Given the description of an element on the screen output the (x, y) to click on. 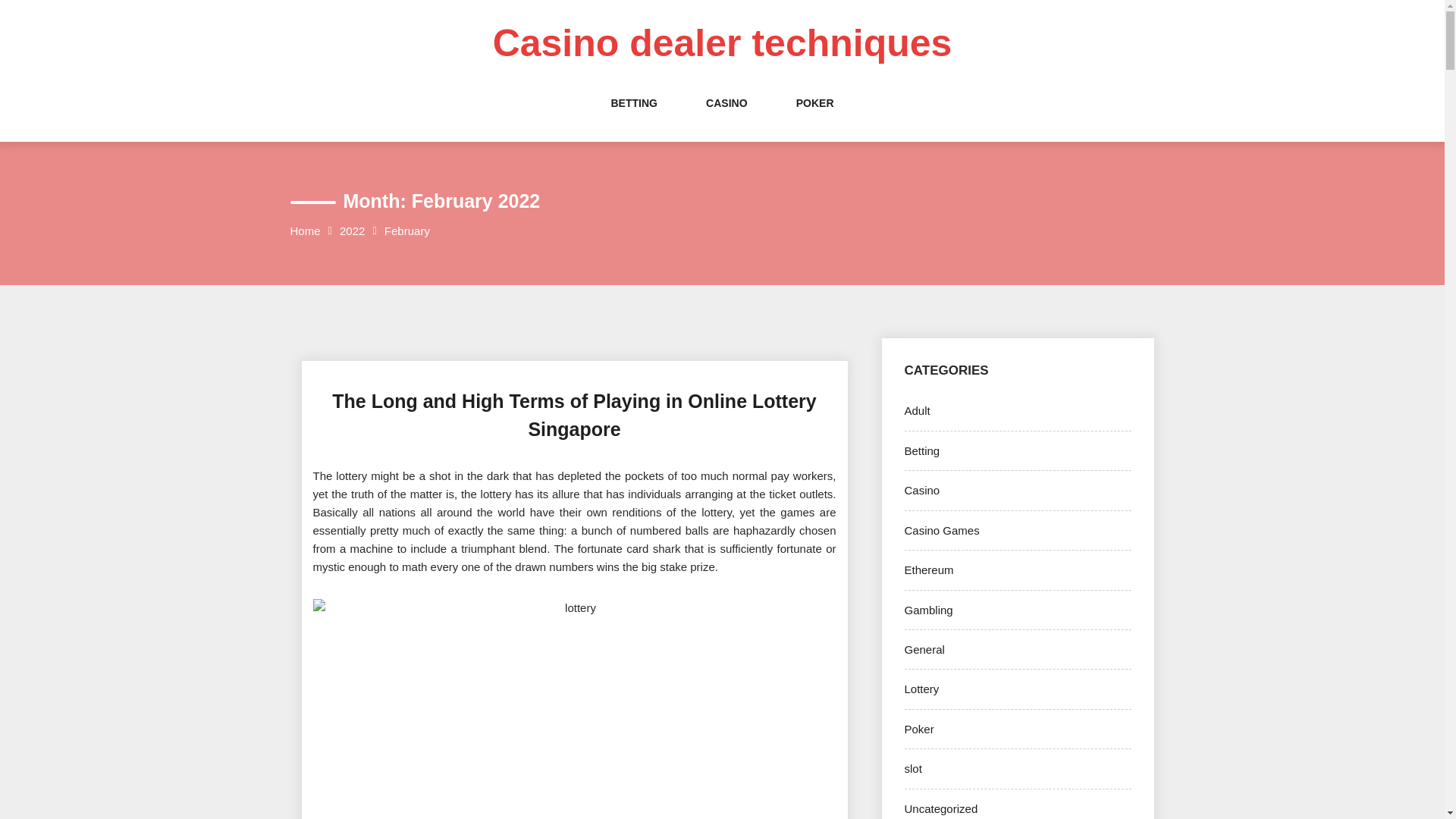
BETTING (633, 118)
CASINO (726, 118)
Casino dealer techniques (722, 43)
Home (304, 230)
2022 (352, 230)
